Given the description of an element on the screen output the (x, y) to click on. 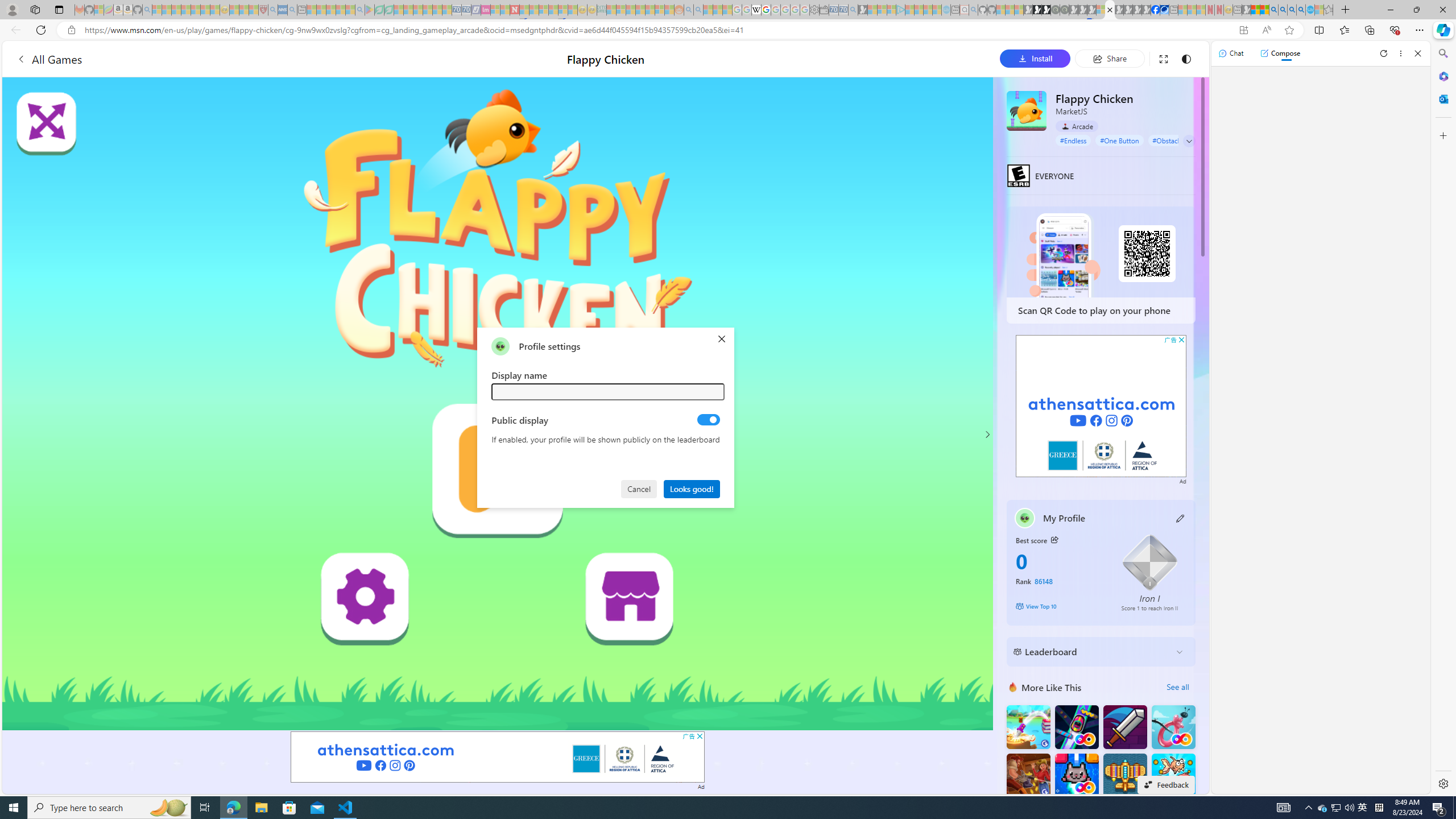
2009 Bing officially replaced Live Search on June 3 - Search (1283, 9)
Knife Flip (1028, 726)
All Games (49, 58)
See all (1177, 687)
